Given the description of an element on the screen output the (x, y) to click on. 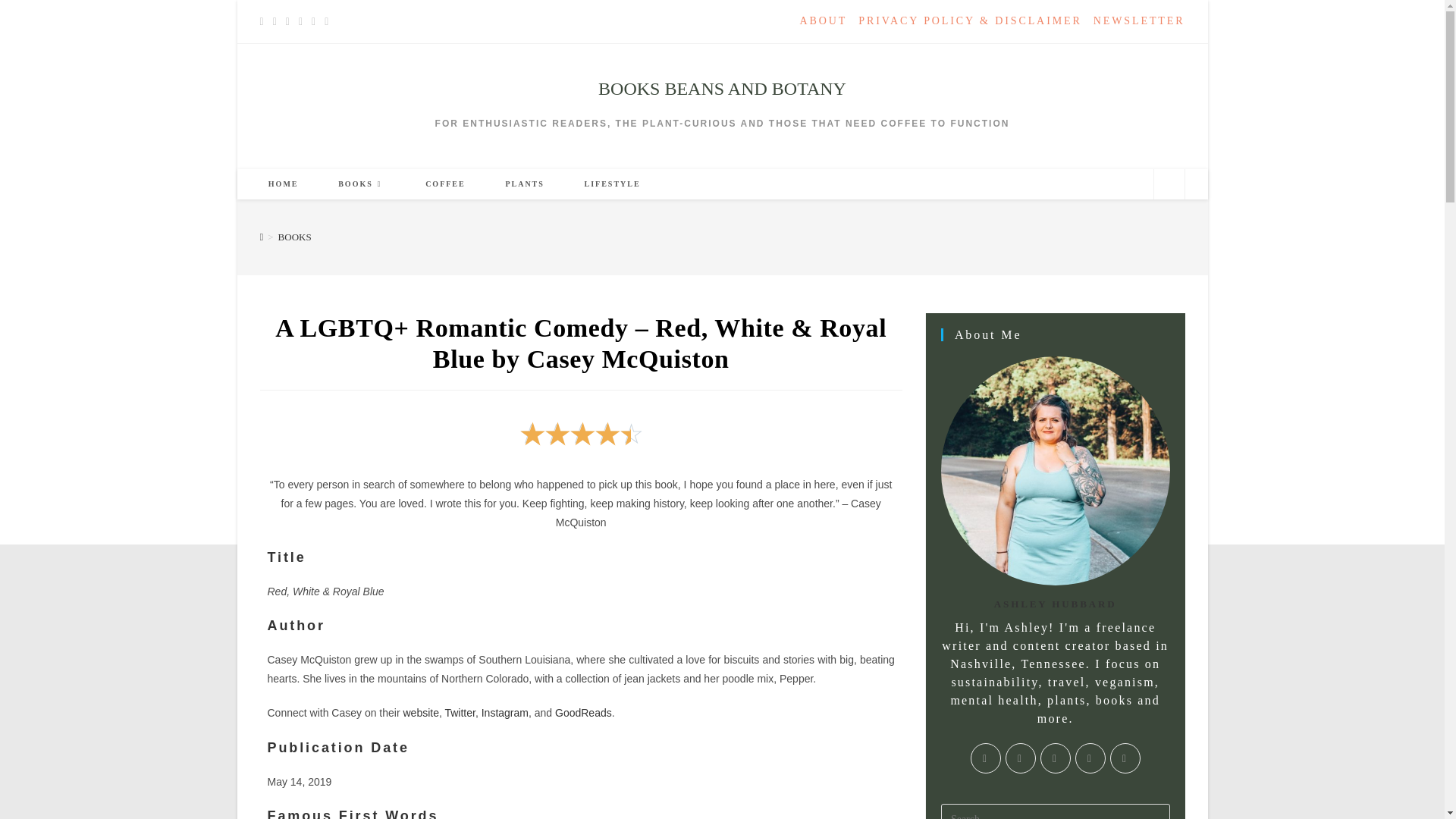
NEWSLETTER (1139, 20)
Twitter (459, 712)
BOOKS (294, 236)
ABOUT (823, 20)
COFFEE (445, 183)
HOME (283, 183)
website (420, 712)
BOOKS (362, 183)
GoodReads (582, 712)
BOOKS BEANS AND BOTANY (721, 88)
